Given the description of an element on the screen output the (x, y) to click on. 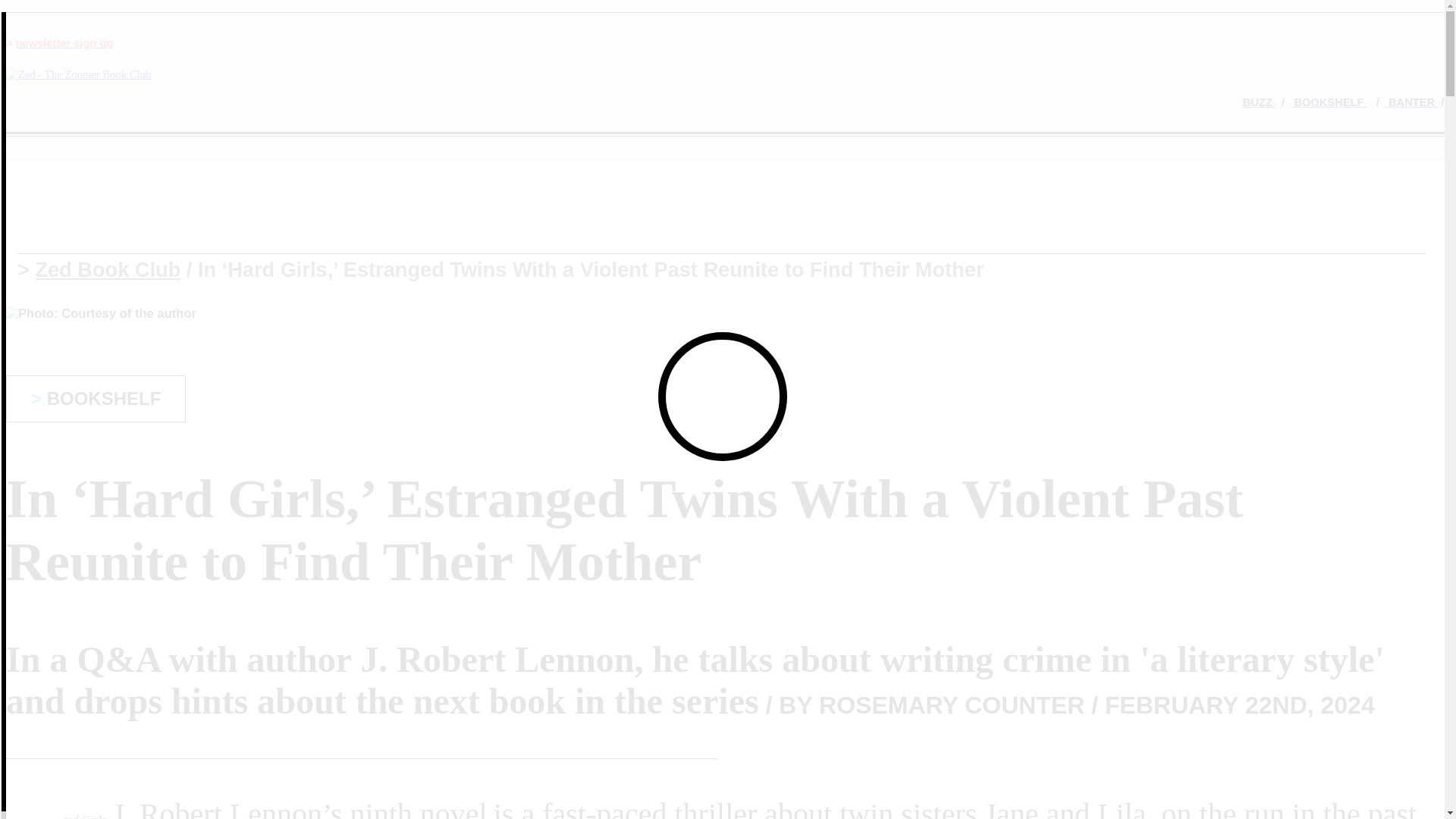
newsletter sign up (64, 42)
 BOOKSHELF  (1328, 101)
 BANTER  (1412, 101)
Zed Book Club (107, 269)
